Given the description of an element on the screen output the (x, y) to click on. 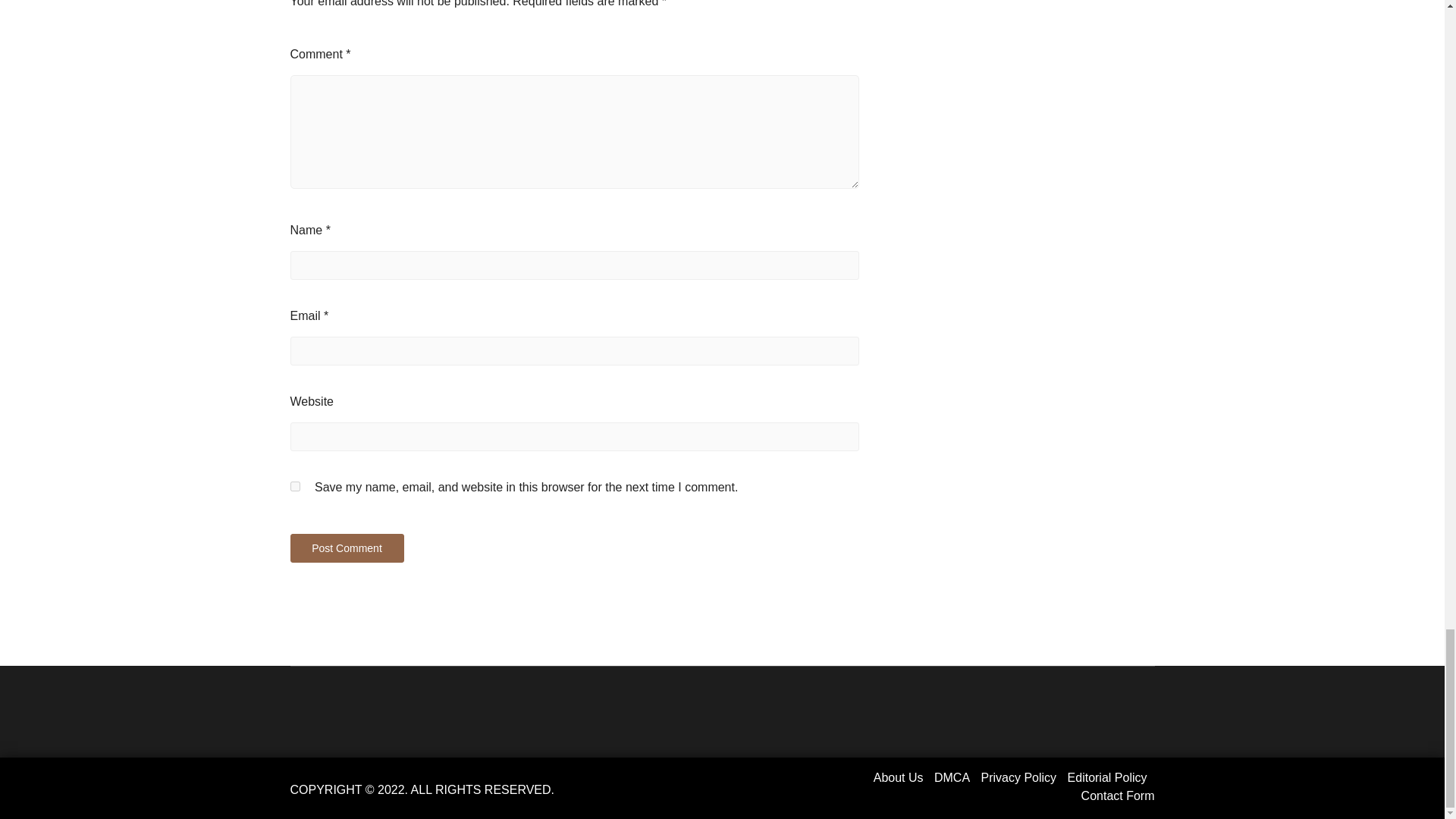
Post Comment (346, 547)
yes (294, 486)
Post Comment (346, 547)
